Given the description of an element on the screen output the (x, y) to click on. 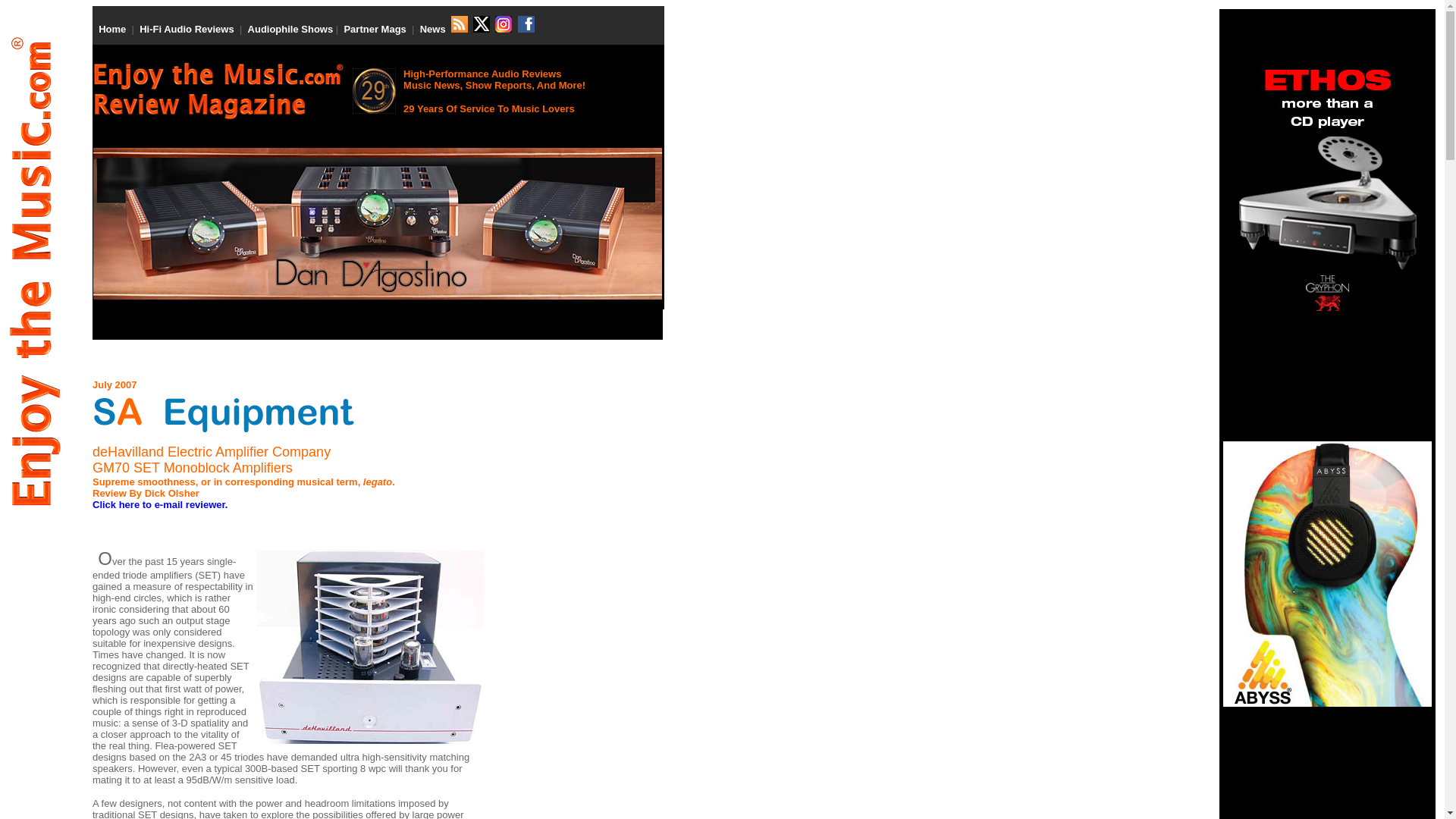
Click here to e-mail reviewer. (160, 504)
Hi-Fi Audio Reviews (185, 29)
Partner Mags (374, 29)
News (432, 29)
Audiophile Shows (290, 29)
Home (112, 29)
